Given the description of an element on the screen output the (x, y) to click on. 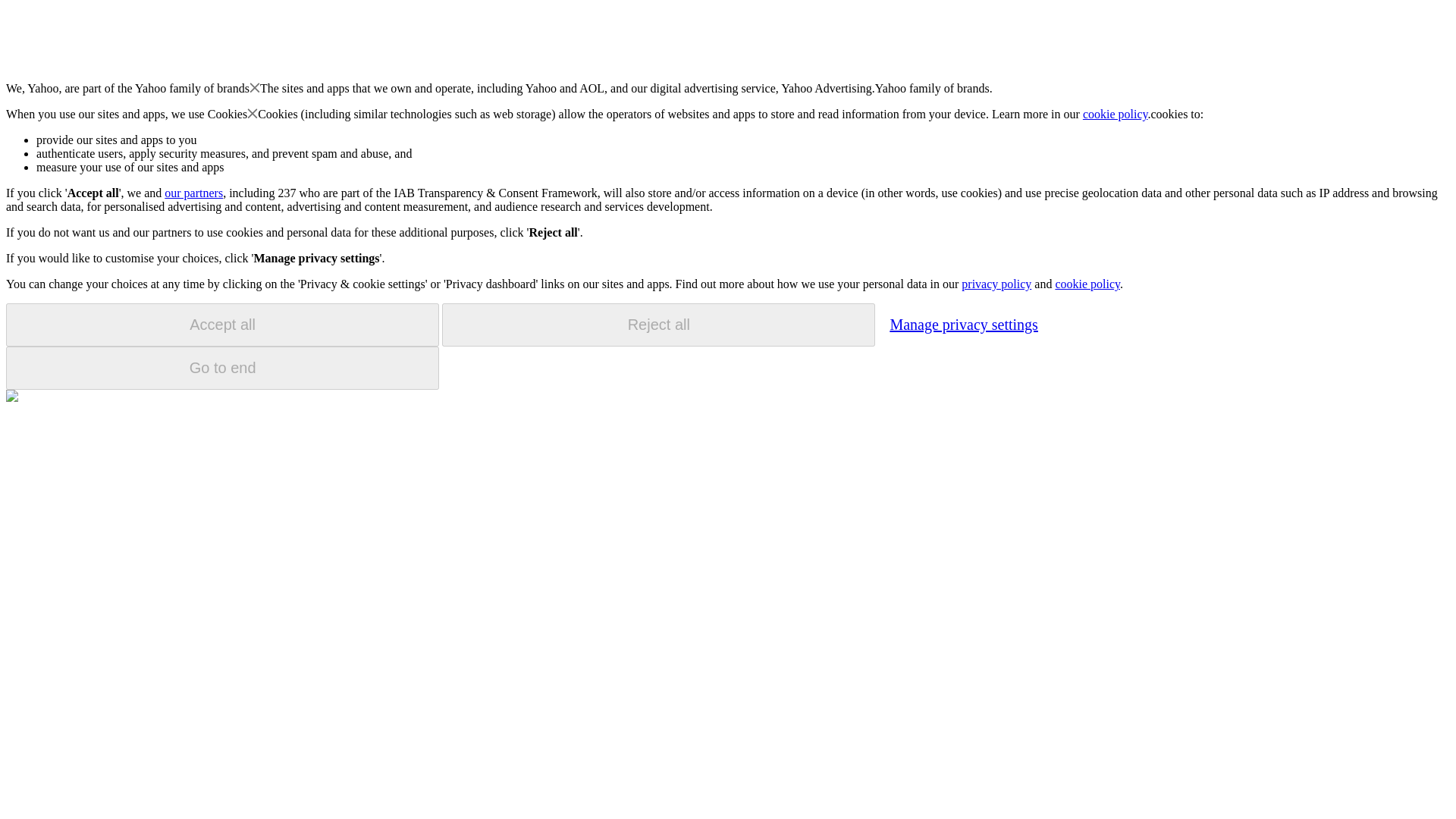
cookie policy (1086, 283)
privacy policy (995, 283)
Manage privacy settings (963, 323)
cookie policy (1115, 113)
Go to end (222, 367)
Accept all (222, 324)
our partners (193, 192)
Reject all (658, 324)
